Given the description of an element on the screen output the (x, y) to click on. 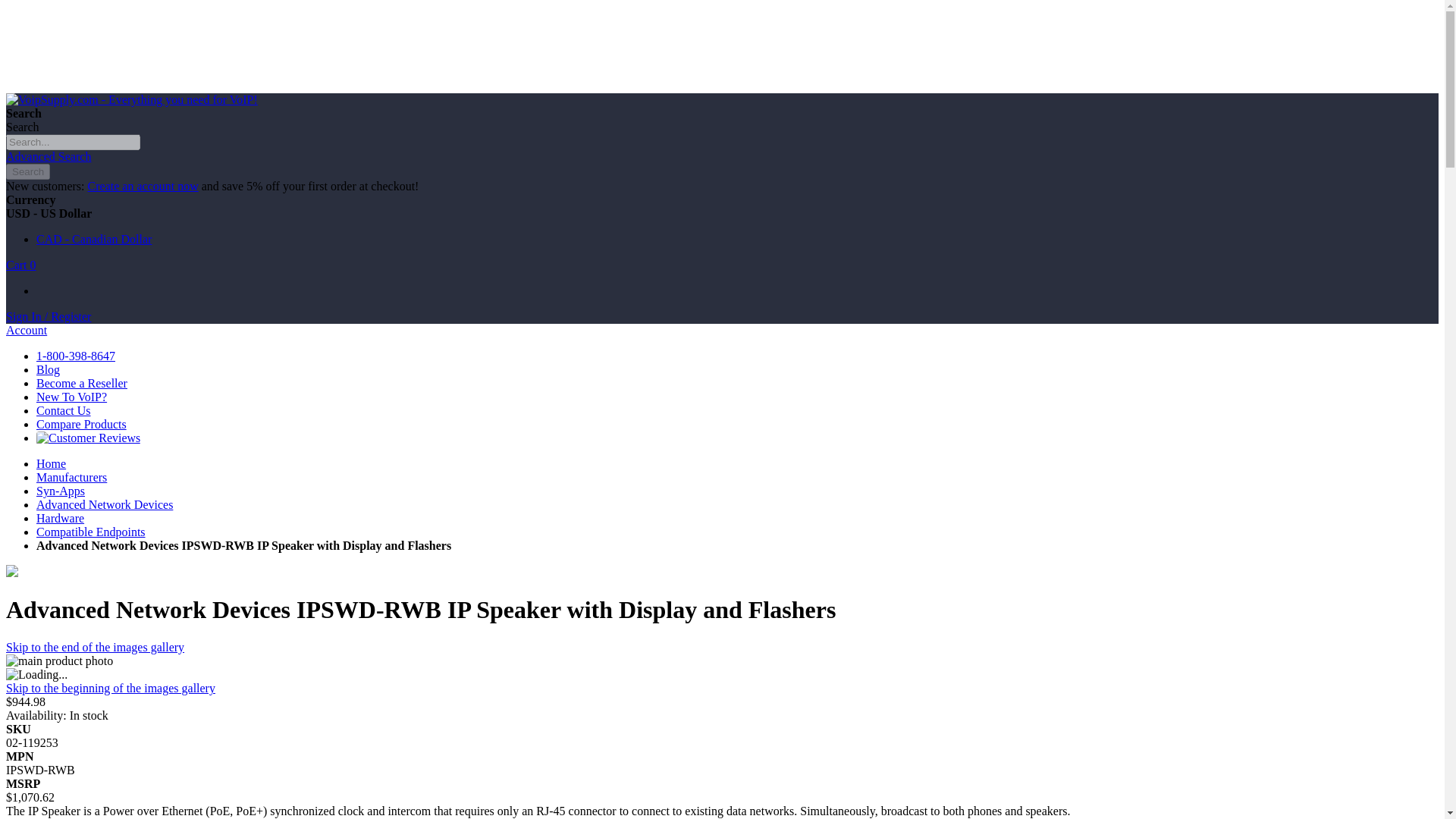
My Account (47, 316)
Cart 0 (20, 264)
New To VoIP? (71, 396)
Go to Home Page (50, 463)
Compatible Endpoints (90, 531)
Account (25, 329)
Advanced Network Devices (104, 504)
Hardware (60, 517)
Syn-Apps (60, 490)
